Given the description of an element on the screen output the (x, y) to click on. 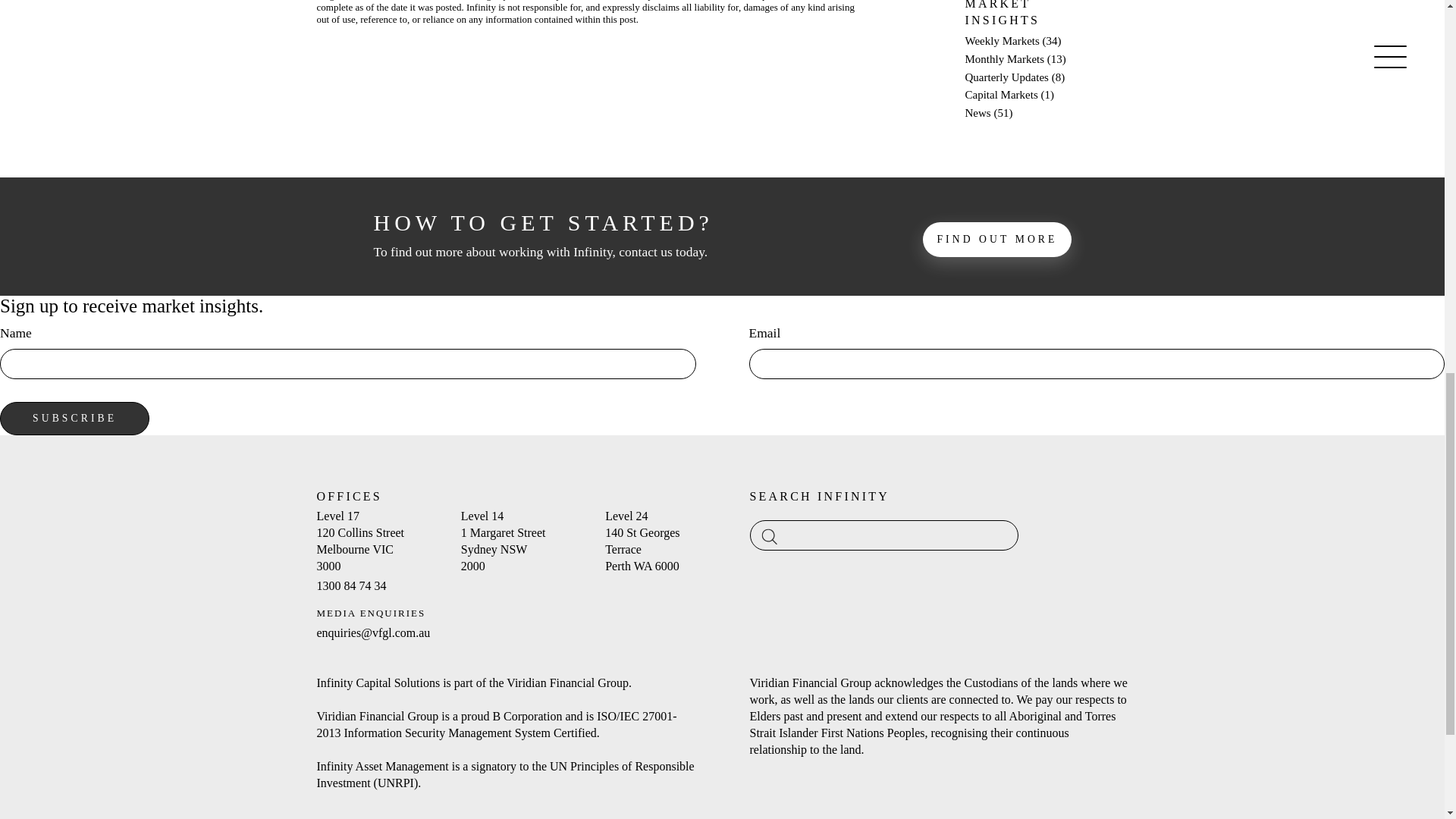
Subscribe (74, 418)
